Given the description of an element on the screen output the (x, y) to click on. 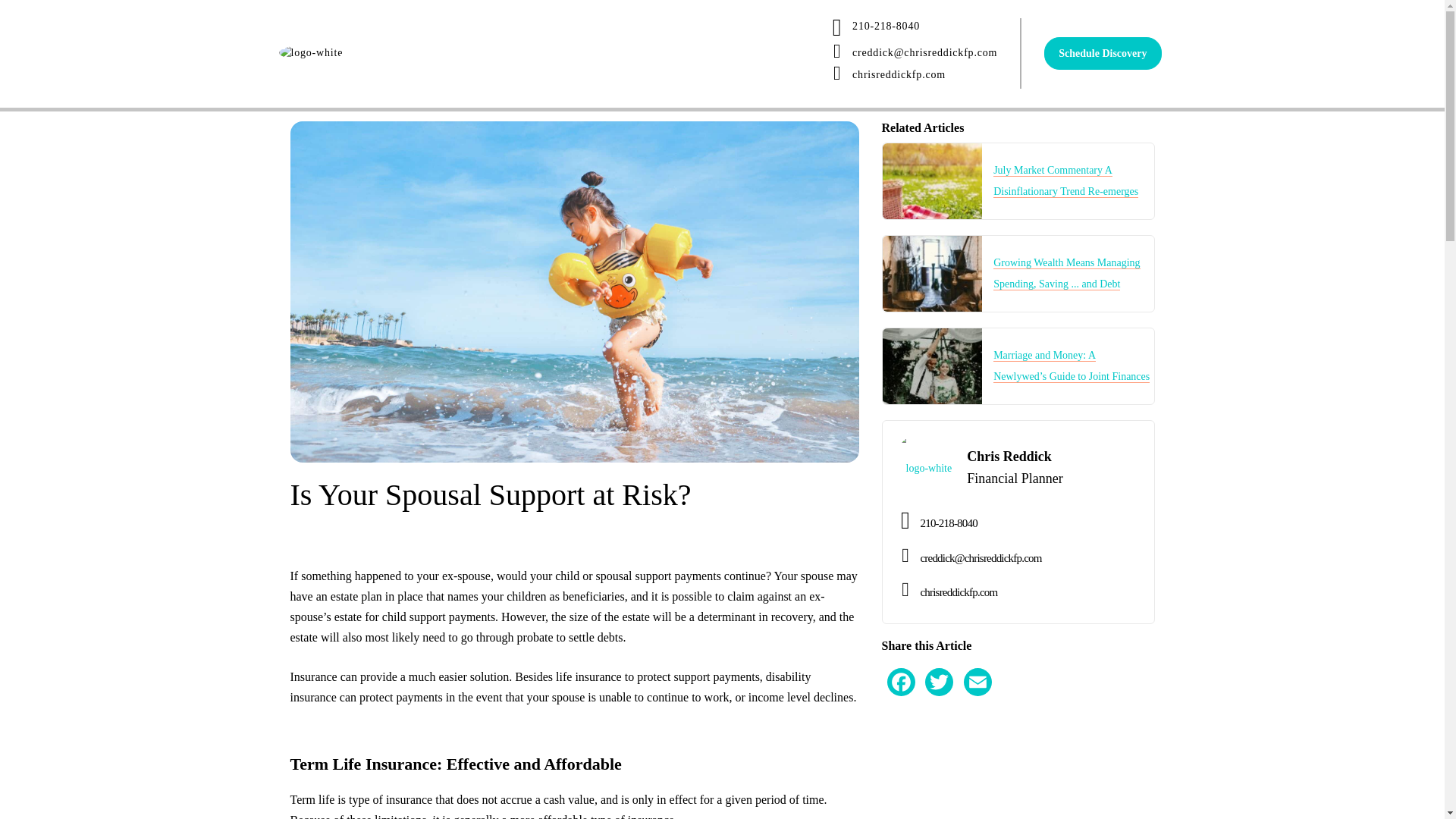
Facebook (900, 666)
Email (977, 666)
210-218-8040 (909, 31)
chrisreddickfp.com (909, 77)
Facebook (900, 666)
Email (977, 666)
July Market Commentary A Disinflationary Trend Re-emerges (1065, 181)
210-218-8040 (1018, 524)
Schedule Discovery (1101, 52)
Growing Wealth Means Managing Spending, Saving ... and Debt (1066, 273)
Twitter (938, 666)
Twitter (938, 666)
chrisreddickfp.com (1018, 594)
